Given the description of an element on the screen output the (x, y) to click on. 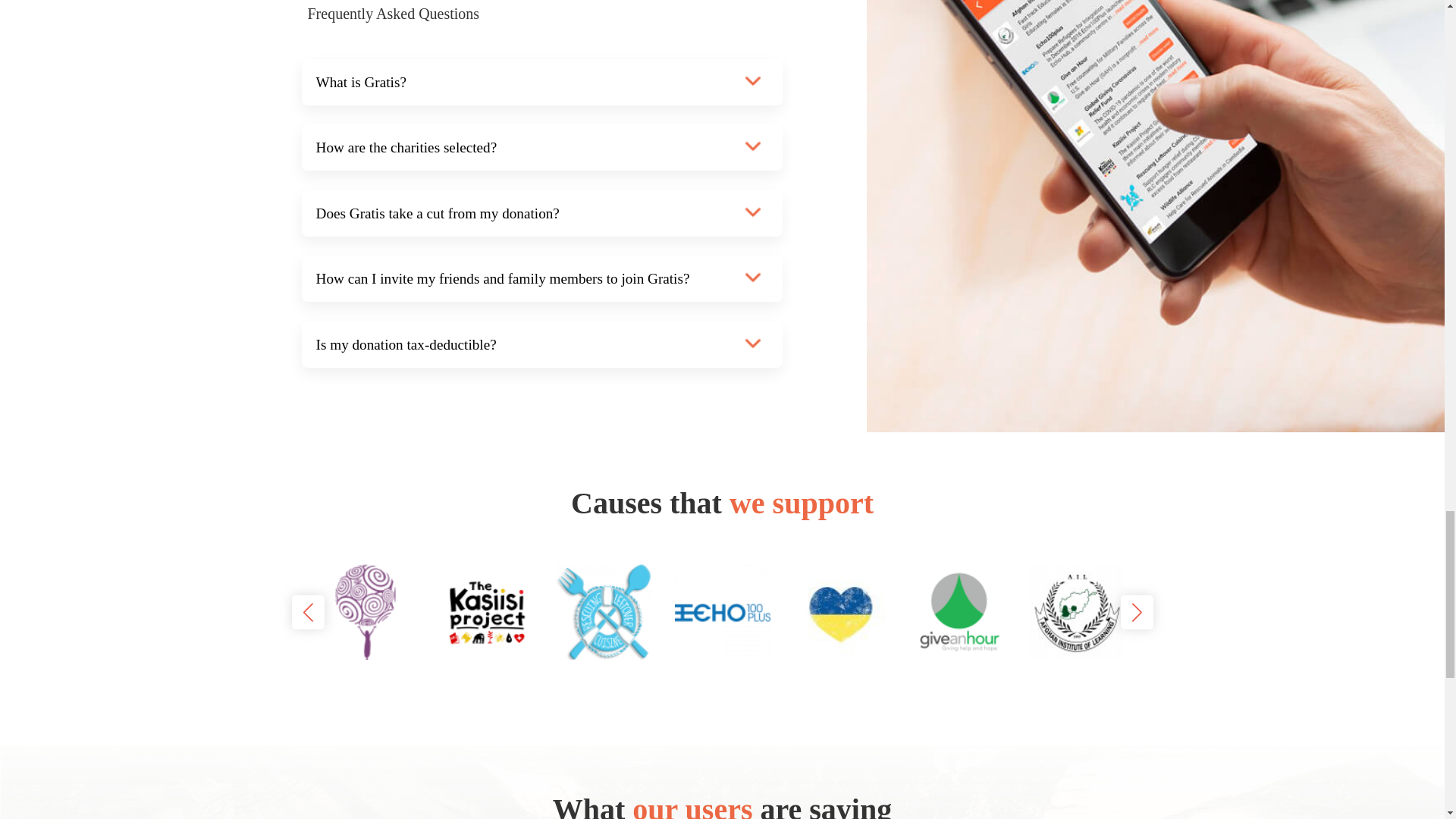
Is my donation tax-deductible? (541, 343)
What is Gratis? (541, 81)
Does Gratis take a cut from my donation? (541, 212)
How are the charities selected? (541, 147)
